Given the description of an element on the screen output the (x, y) to click on. 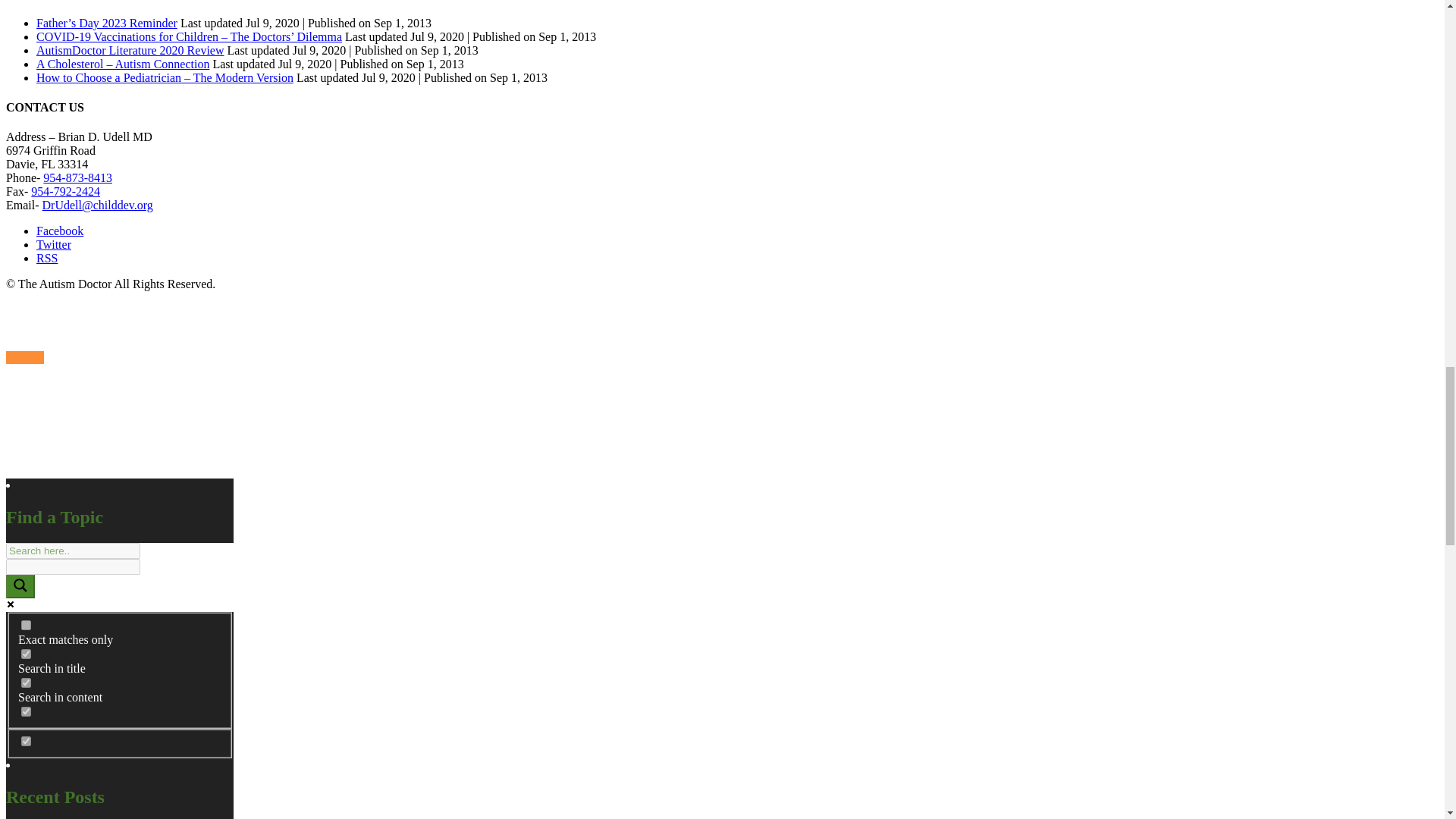
content (25, 682)
954-792-2424 (65, 191)
Facebook (59, 230)
title (25, 654)
AutismDoctor Literature 2020 Review (130, 50)
954-873-8413 (77, 177)
post (25, 741)
exact (25, 624)
excerpt (25, 711)
Twitter (53, 244)
